Given the description of an element on the screen output the (x, y) to click on. 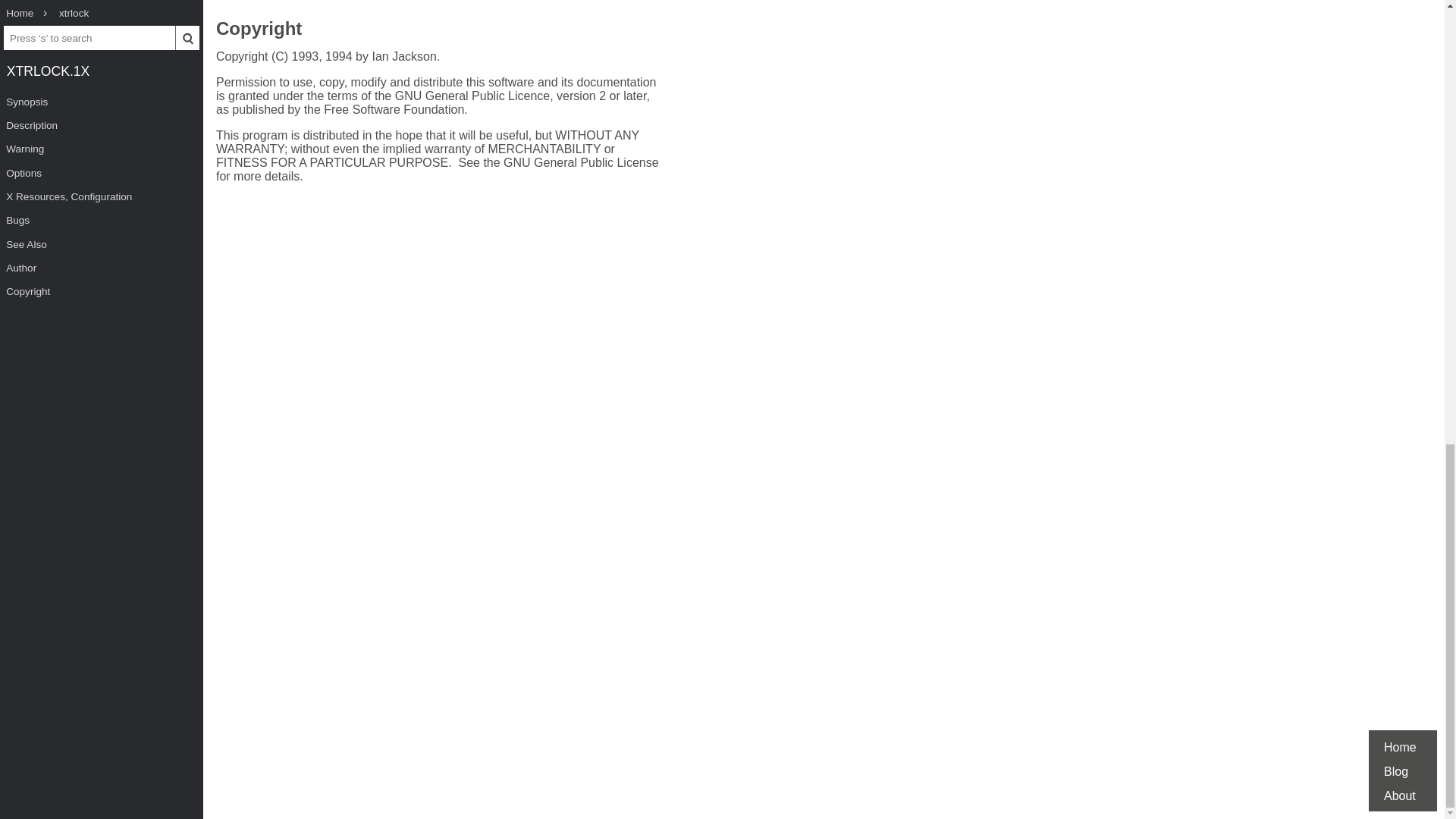
Copyright (258, 30)
